Given the description of an element on the screen output the (x, y) to click on. 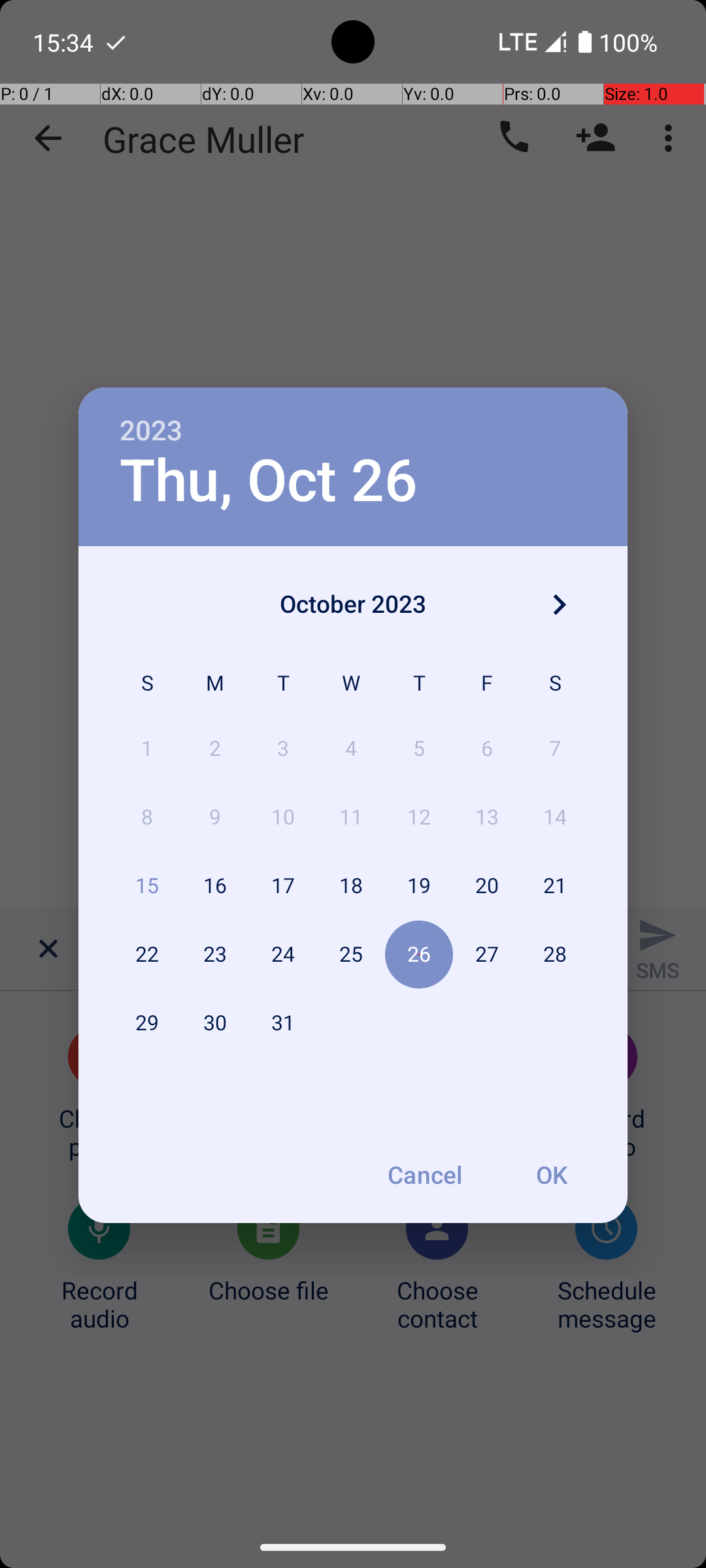
Thu, Oct 26 Element type: android.widget.TextView (268, 480)
